Given the description of an element on the screen output the (x, y) to click on. 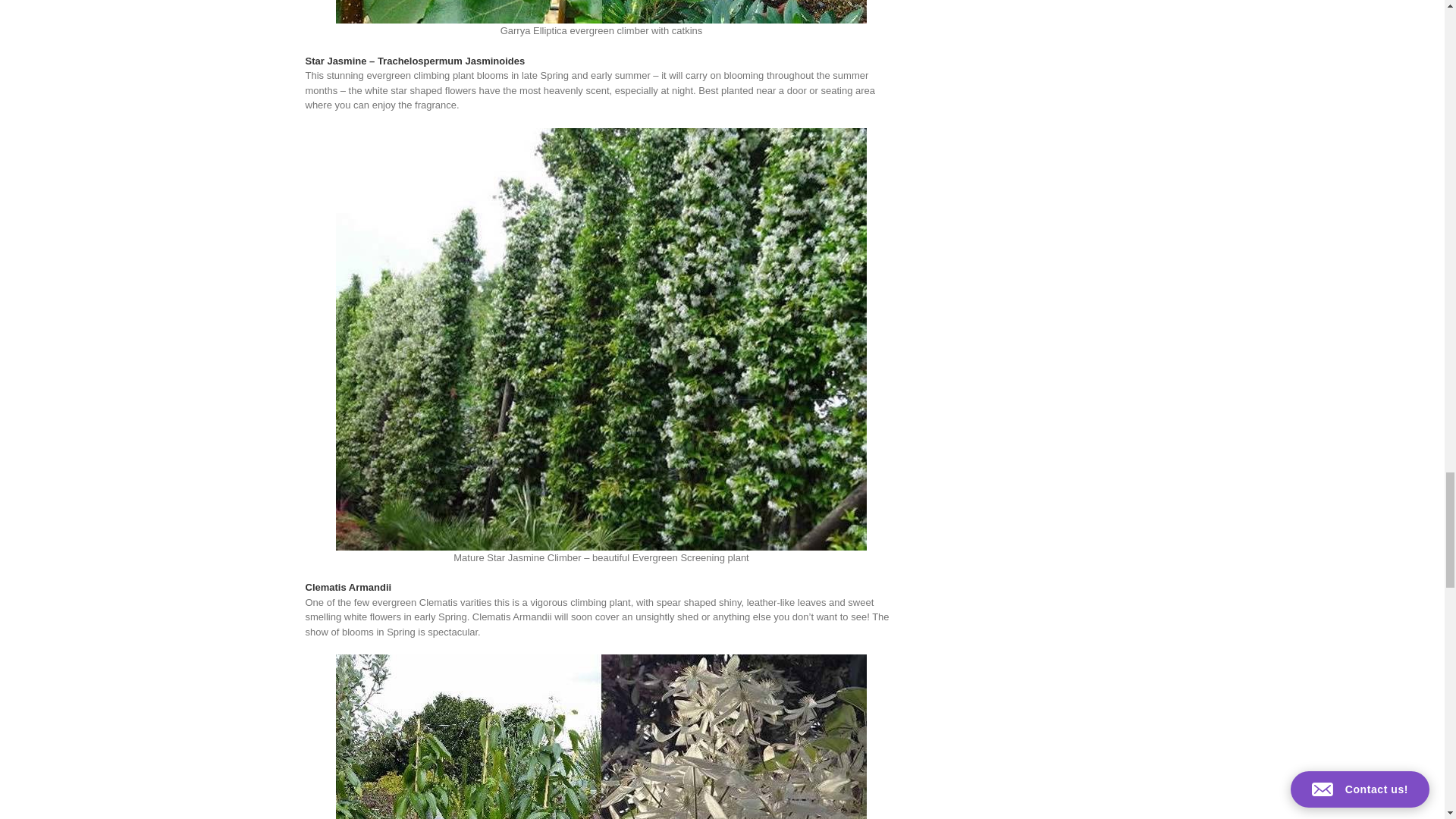
Garrya Elliptica evergreen climber with catkins (601, 11)
Clematis Armandii evergreen climber (601, 736)
